Given the description of an element on the screen output the (x, y) to click on. 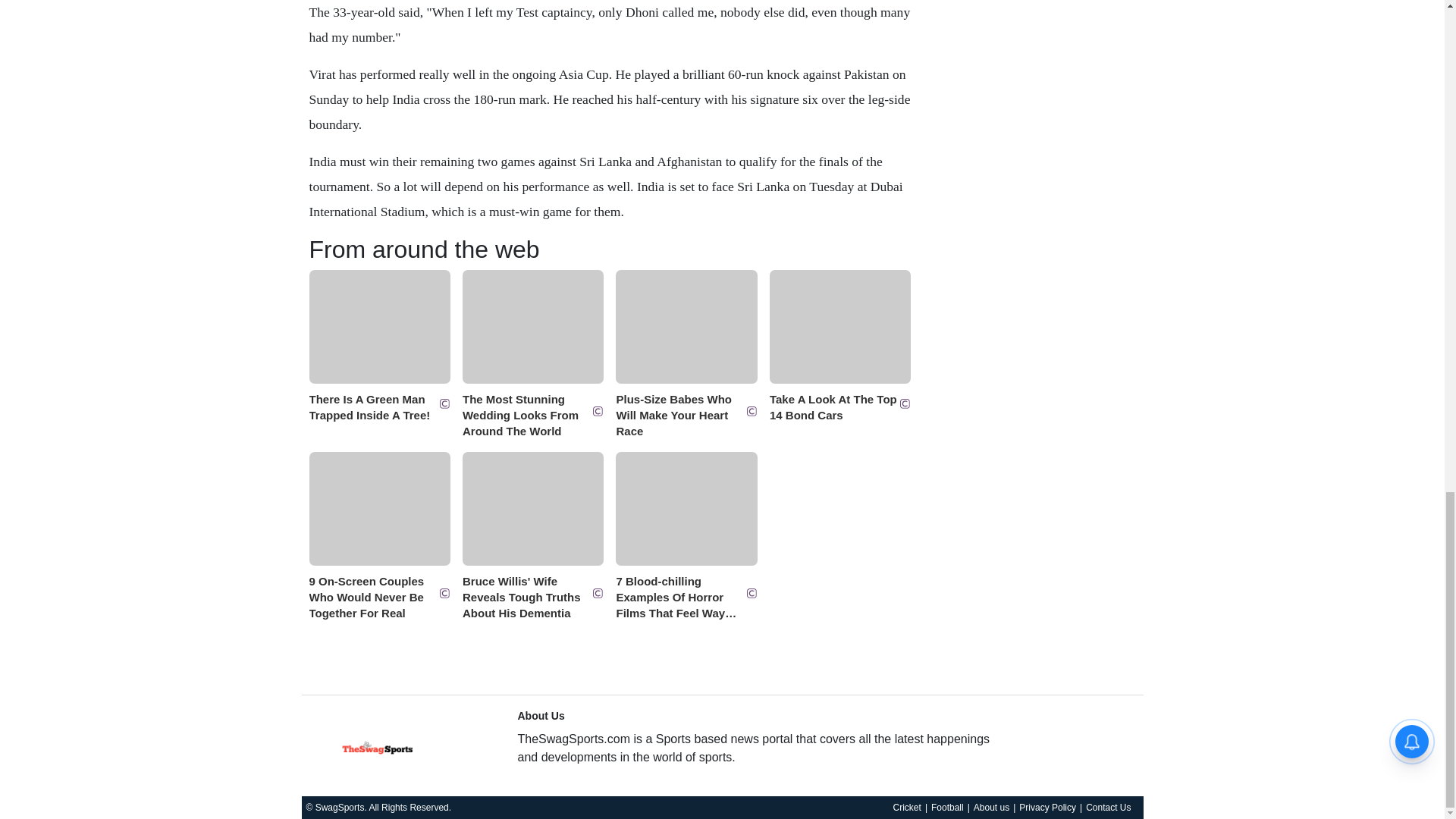
The Most Stunning Wedding Looks From Around The World (533, 411)
There Is A Green Man Trapped Inside A Tree! (378, 403)
